Given the description of an element on the screen output the (x, y) to click on. 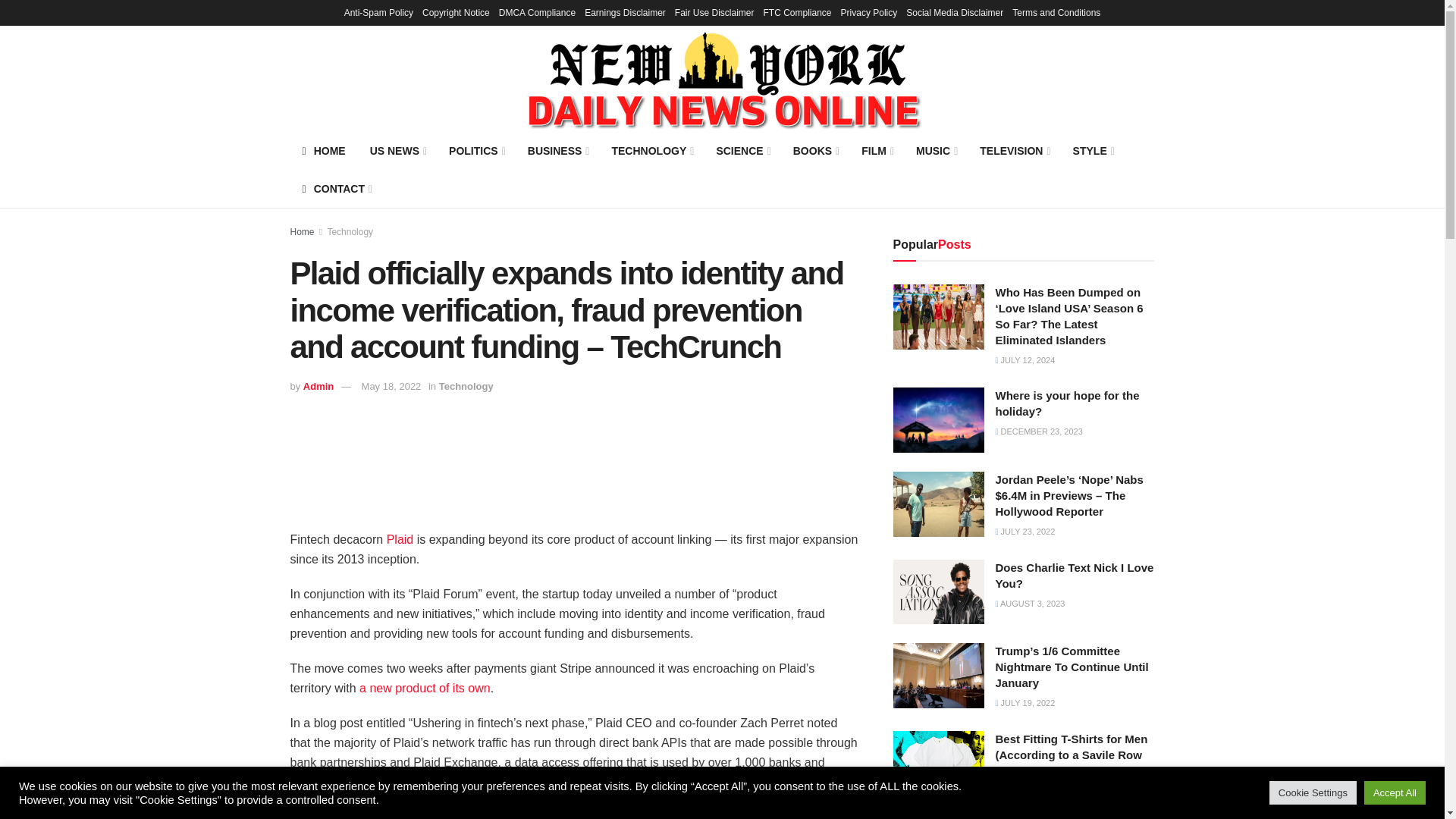
US NEWS (397, 150)
DMCA Compliance (537, 12)
BUSINESS (557, 150)
Privacy Policy (869, 12)
Fair Use Disclaimer (714, 12)
Social Media Disclaimer (954, 12)
FTC Compliance (796, 12)
HOME (322, 150)
POLITICS (475, 150)
Anti-Spam Policy (378, 12)
Terms and Conditions (1055, 12)
Earnings Disclaimer (625, 12)
Copyright Notice (455, 12)
